Given the description of an element on the screen output the (x, y) to click on. 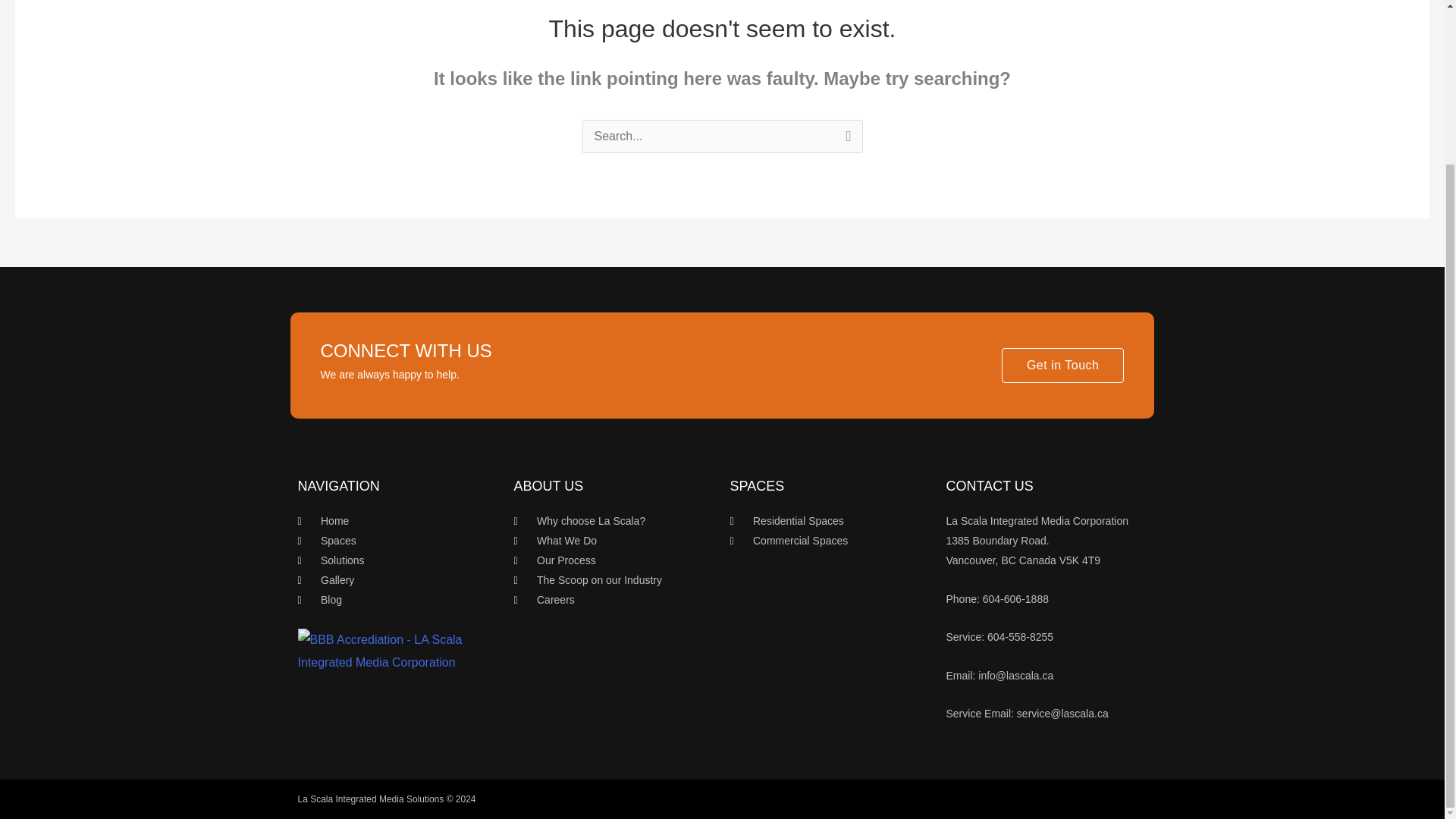
Search (844, 140)
Search (844, 140)
Search (844, 140)
Get in Touch (1062, 365)
